Given the description of an element on the screen output the (x, y) to click on. 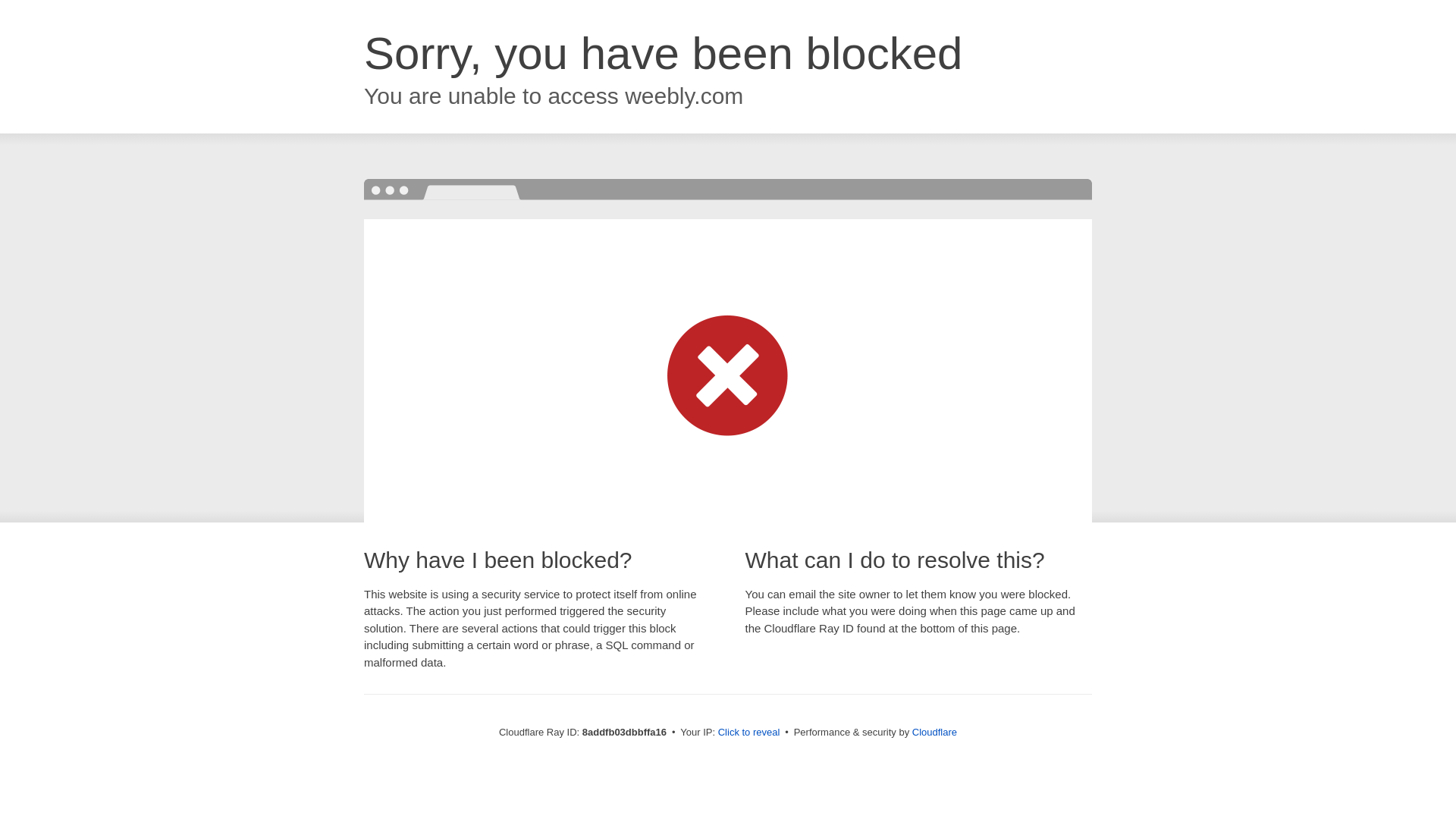
Cloudflare (934, 731)
Click to reveal (748, 732)
